Given the description of an element on the screen output the (x, y) to click on. 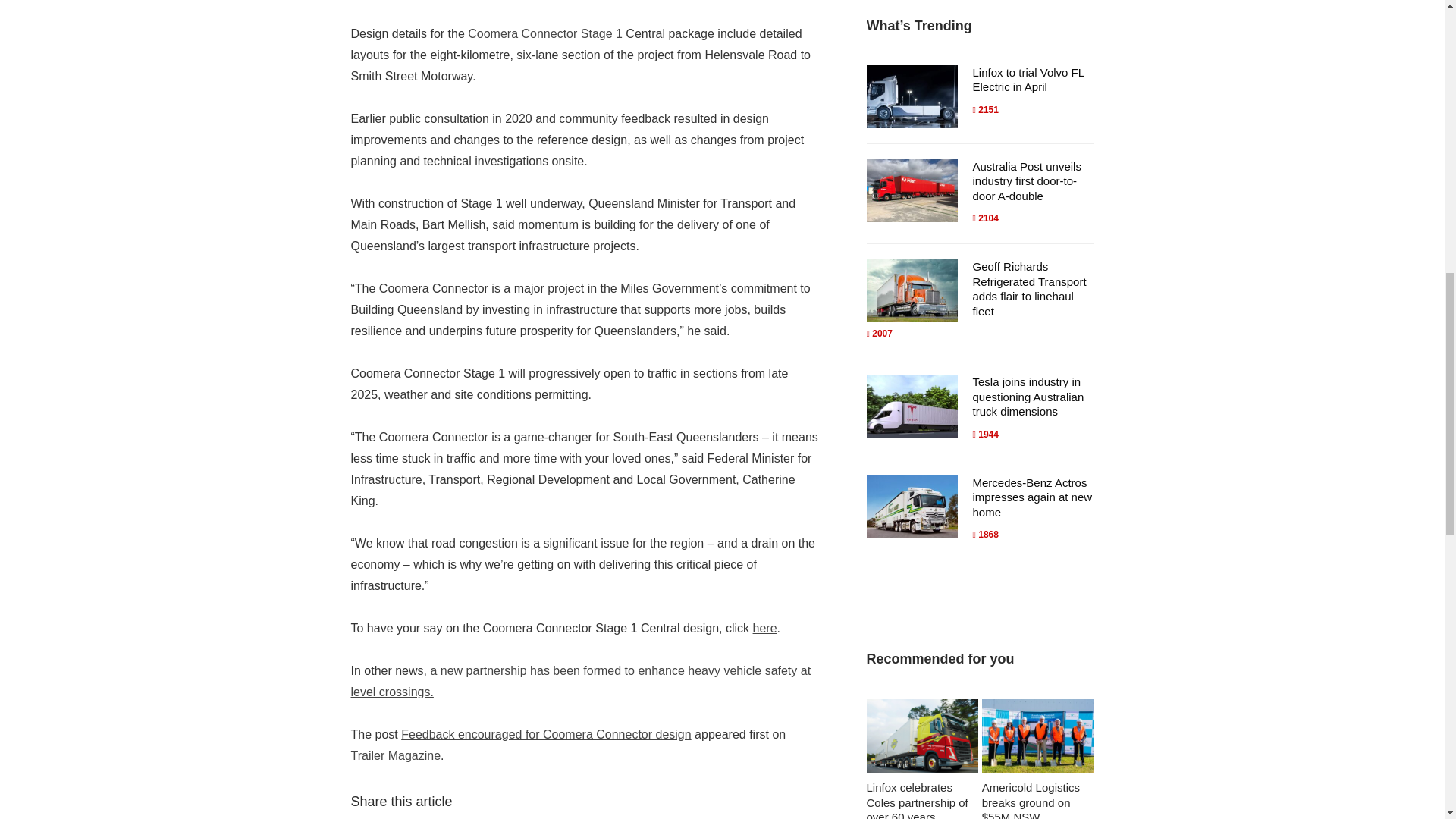
Coomera Connector Stage 1 (545, 33)
Feedback encouraged for Coomera Connector design (545, 734)
View Linfox to trial Volvo FL Electric in April (1027, 80)
here (764, 627)
Views (984, 109)
Trailer Magazine (395, 755)
